Given the description of an element on the screen output the (x, y) to click on. 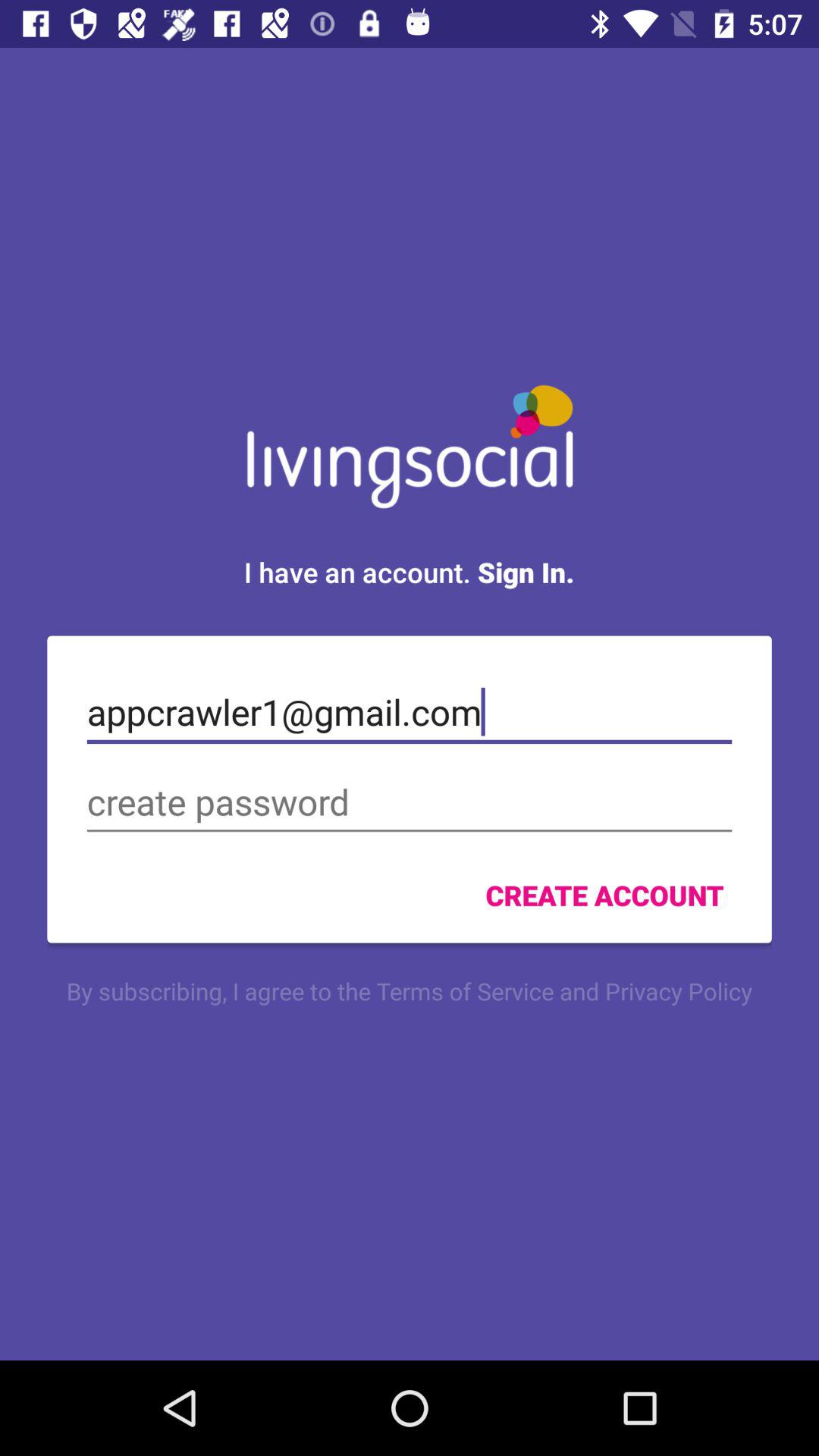
enter password (409, 802)
